Given the description of an element on the screen output the (x, y) to click on. 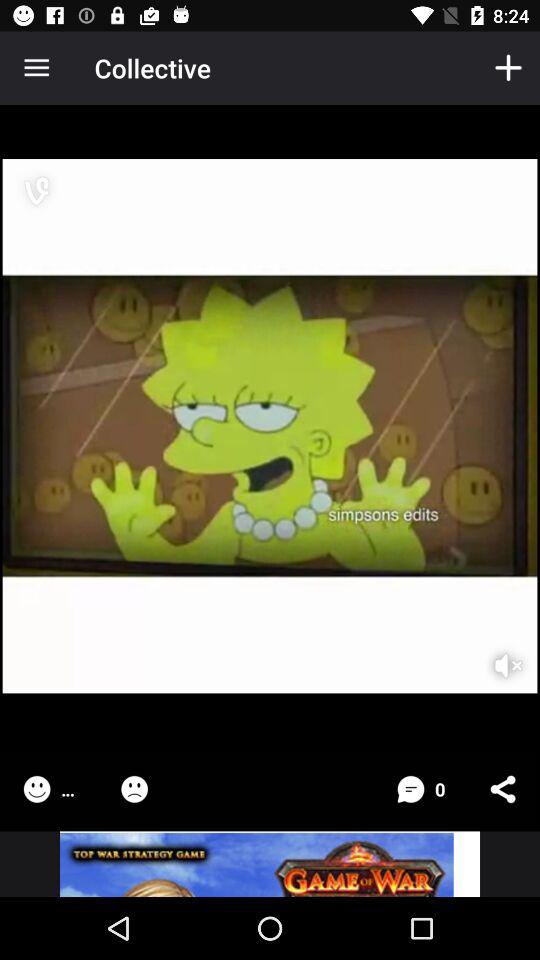
go to advertised game (270, 864)
